Given the description of an element on the screen output the (x, y) to click on. 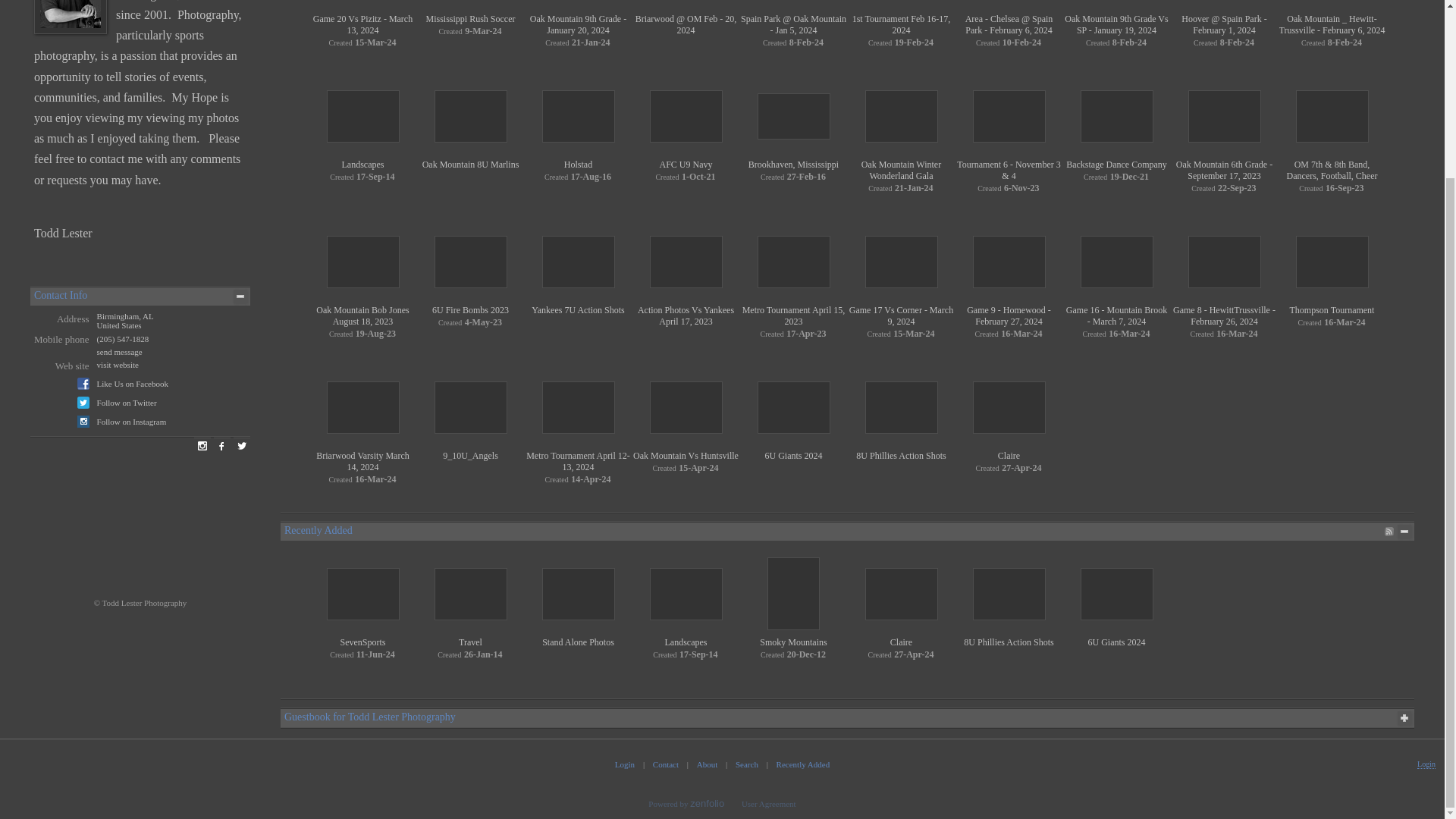
visit website (117, 364)
Like Us on Facebook (132, 383)
Contact Info (60, 295)
send message (119, 351)
Follow on Twitter (127, 402)
Follow on Instagram (132, 420)
